Given the description of an element on the screen output the (x, y) to click on. 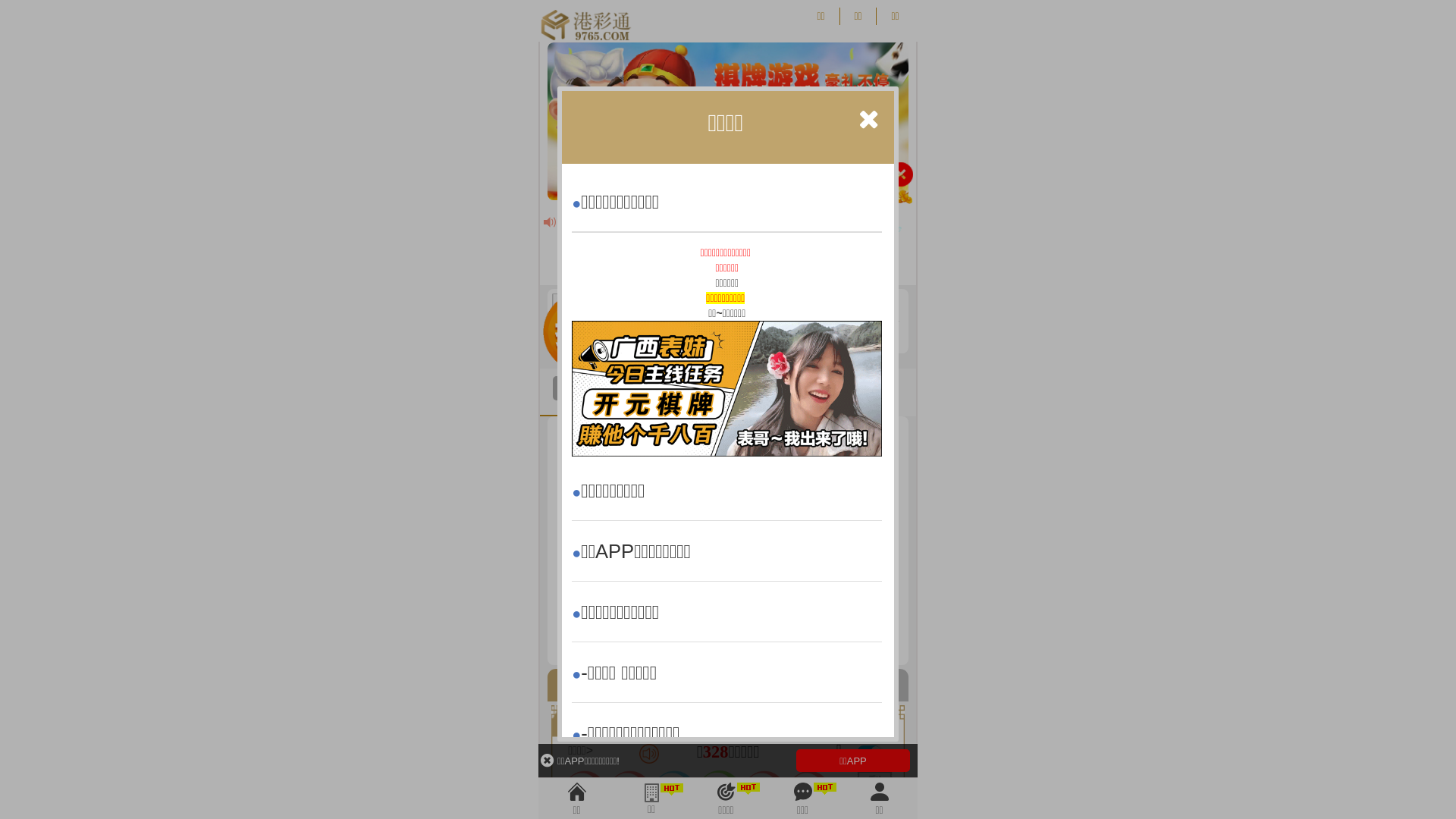
1700228965207625.gif Element type: hover (726, 388)
